Given the description of an element on the screen output the (x, y) to click on. 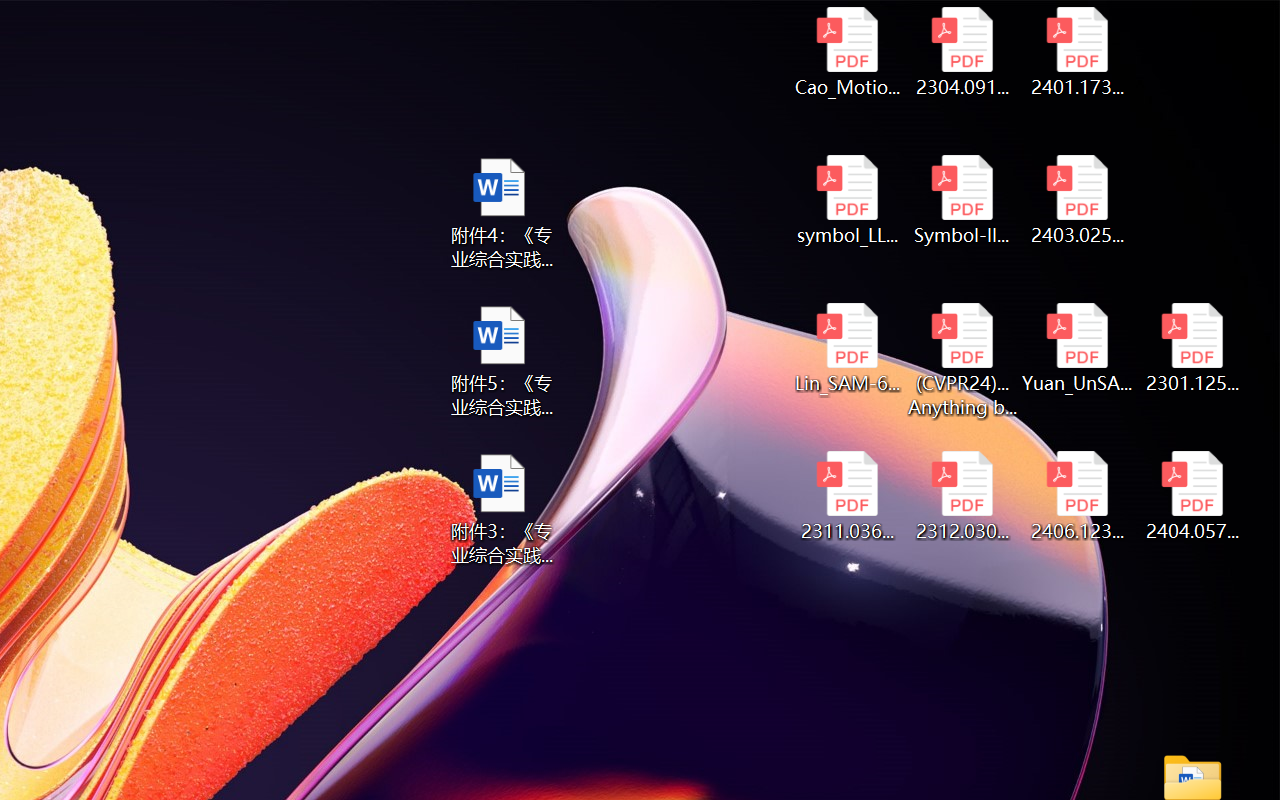
2312.03032v2.pdf (962, 496)
